Given the description of an element on the screen output the (x, y) to click on. 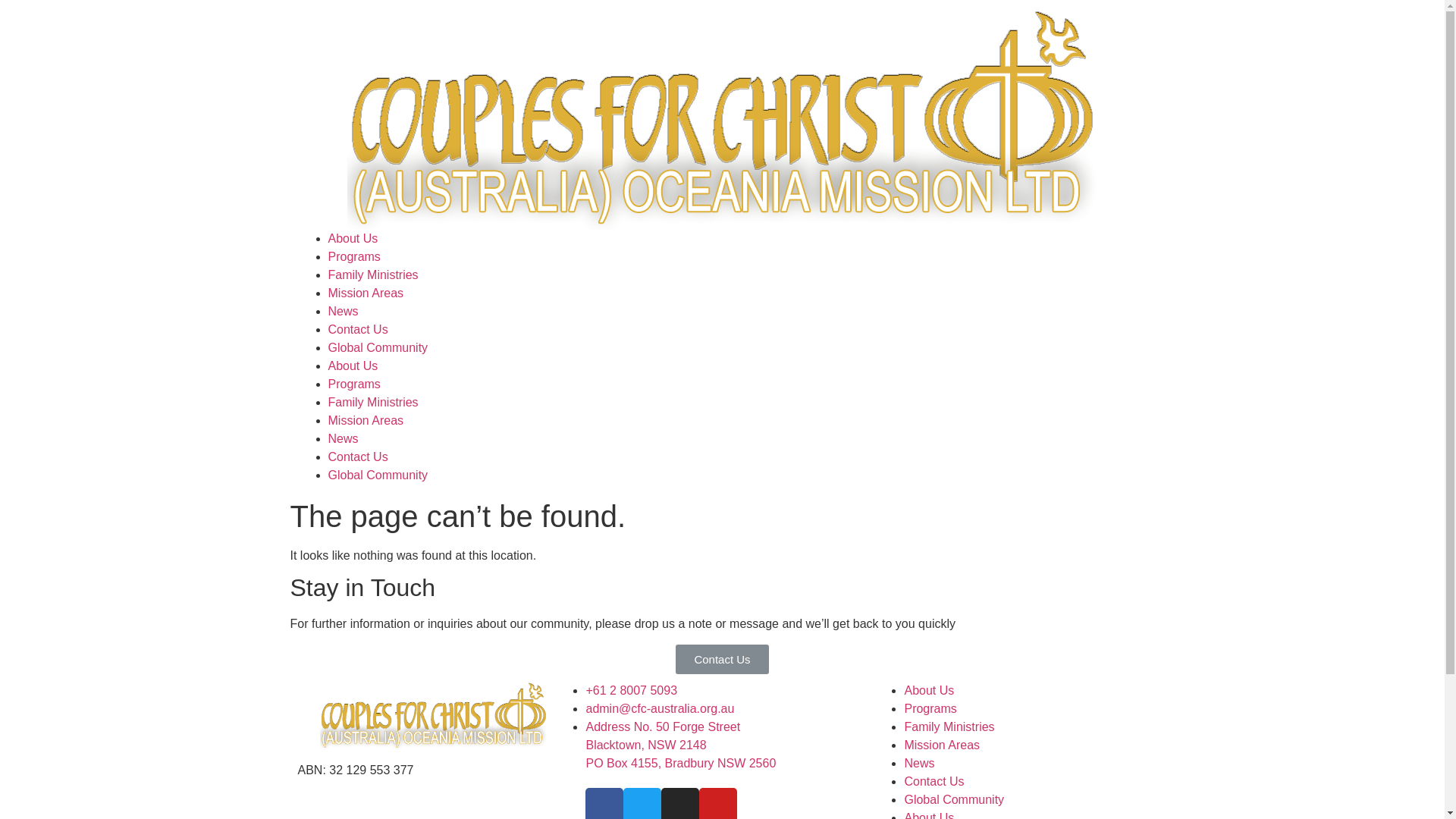
Contact Us Element type: text (357, 456)
Mission Areas Element type: text (365, 292)
Programs Element type: text (929, 708)
Contact Us Element type: text (933, 781)
Family Ministries Element type: text (372, 274)
Contact Us Element type: text (357, 329)
News Element type: text (342, 438)
Global Community Element type: text (953, 799)
Contact Us Element type: text (721, 659)
About Us Element type: text (928, 690)
Mission Areas Element type: text (941, 744)
Global Community Element type: text (377, 347)
News Element type: text (918, 762)
News Element type: text (342, 310)
Mission Areas Element type: text (365, 420)
About Us Element type: text (352, 365)
Family Ministries Element type: text (948, 726)
About Us Element type: text (352, 238)
+61 2 8007 5093 Element type: text (631, 690)
Global Community Element type: text (377, 474)
Programs Element type: text (353, 256)
Programs Element type: text (353, 383)
Family Ministries Element type: text (372, 401)
admin@cfc-australia.org.au Element type: text (659, 708)
